Given the description of an element on the screen output the (x, y) to click on. 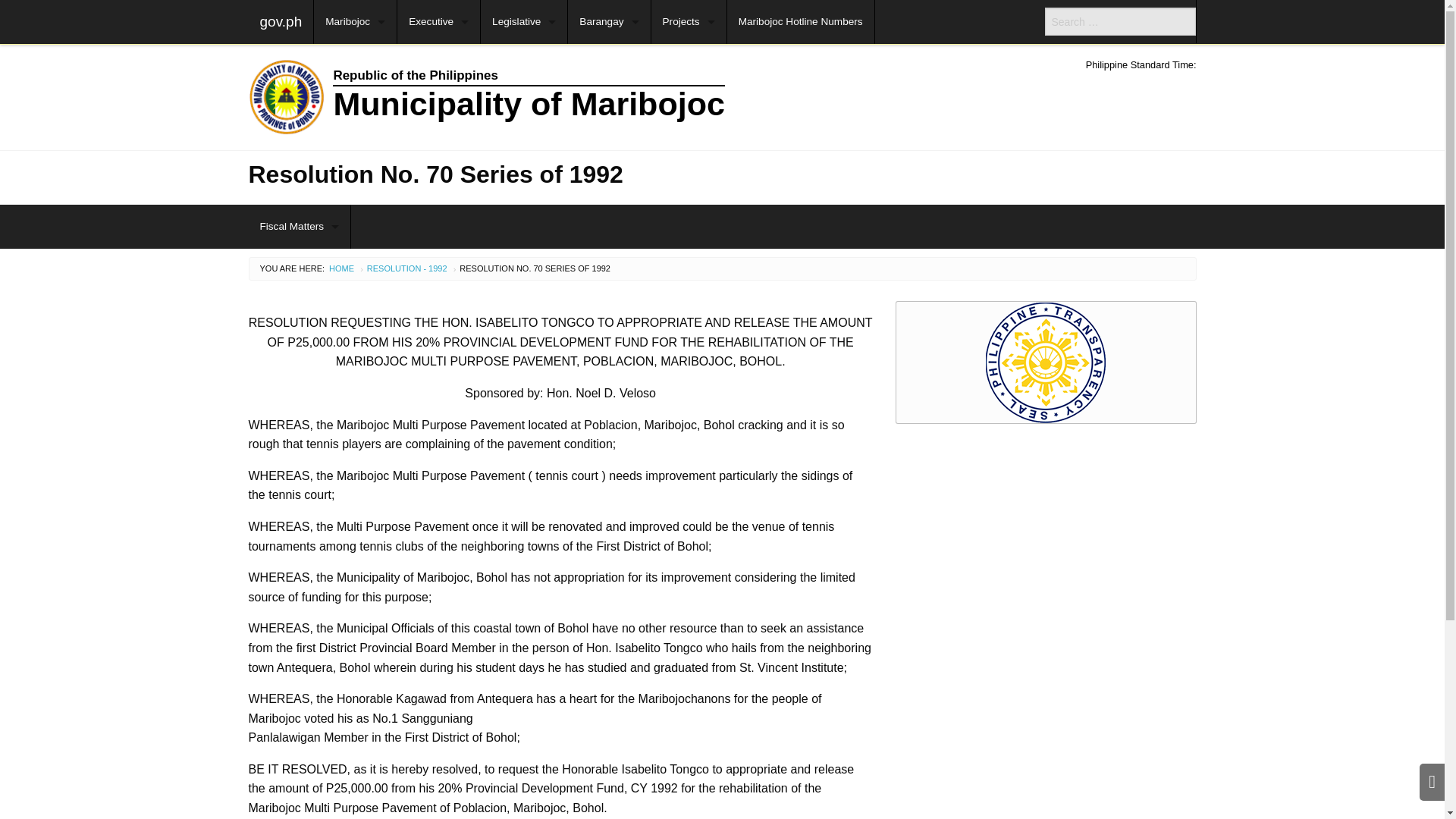
Transparency Seal (1045, 362)
Search for: (1120, 21)
Maribojoc Municipal Government (600, 96)
